Given the description of an element on the screen output the (x, y) to click on. 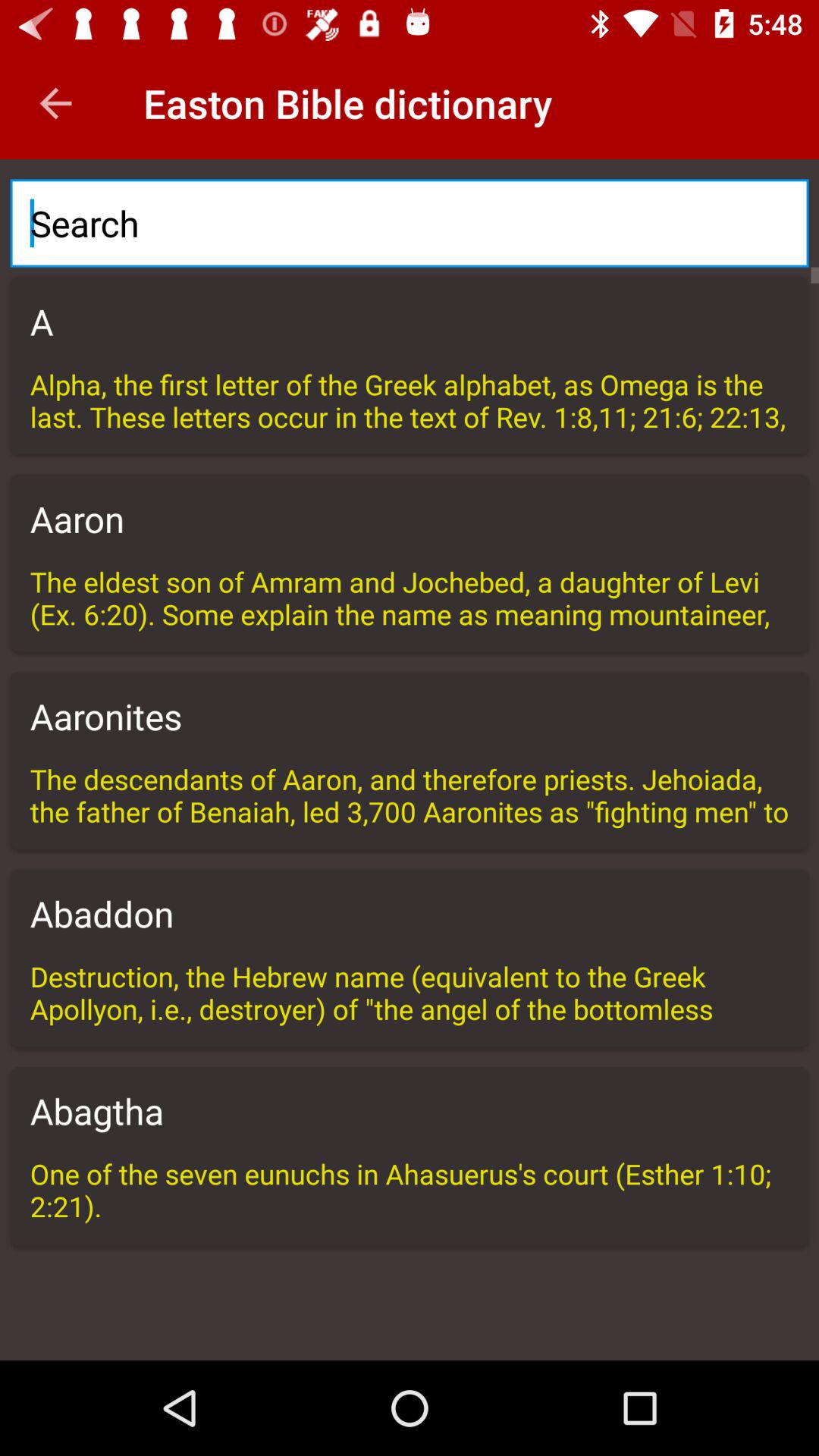
tap the abagtha item (409, 1110)
